Given the description of an element on the screen output the (x, y) to click on. 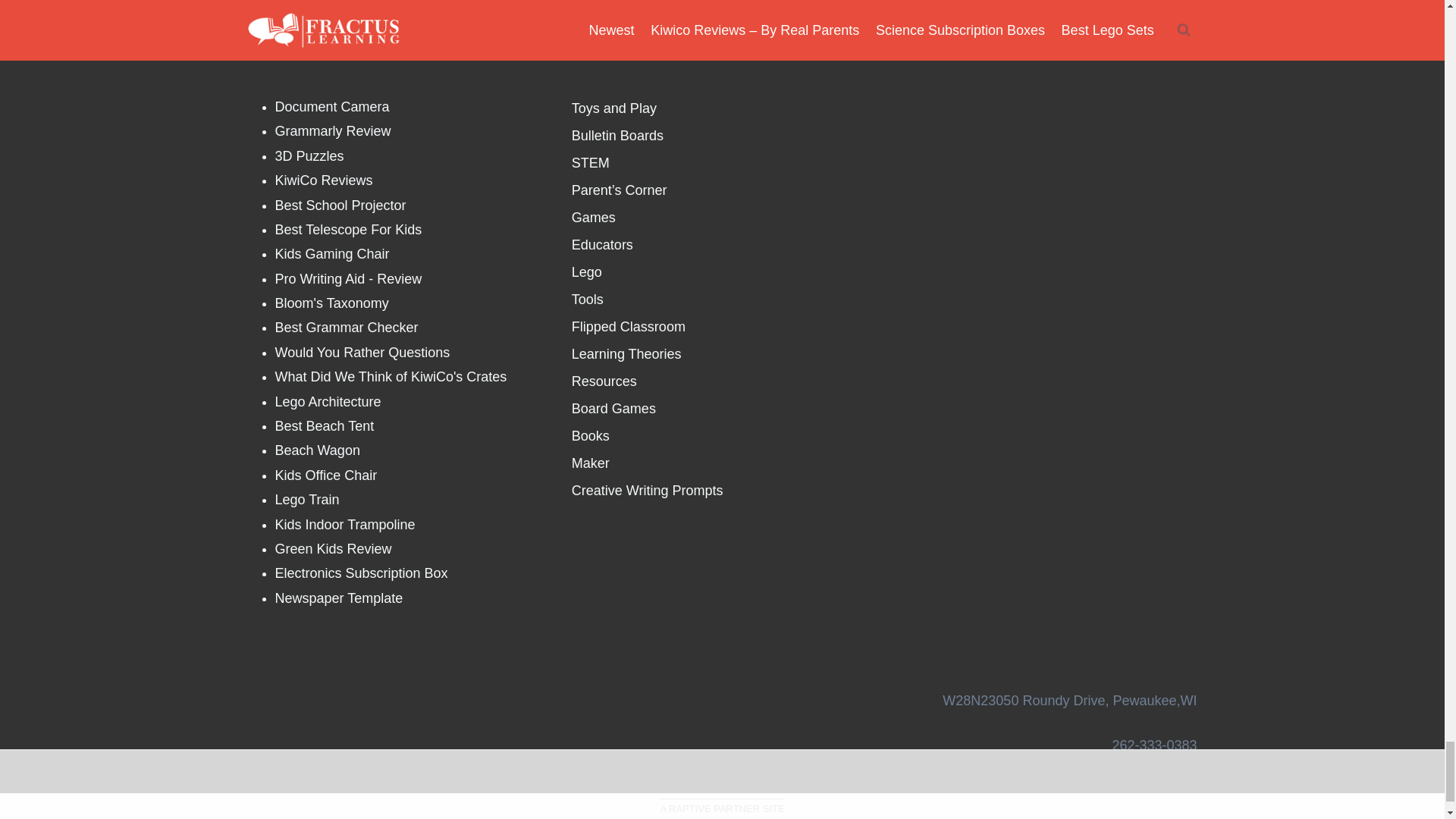
3D Puzzles For Kids (309, 155)
Gaming Chair For Kids (331, 253)
grammarly reviews (332, 130)
classroom projector (340, 205)
Kiwico Box (323, 180)
best telescope for beginners (348, 229)
best document camera (331, 106)
